Given the description of an element on the screen output the (x, y) to click on. 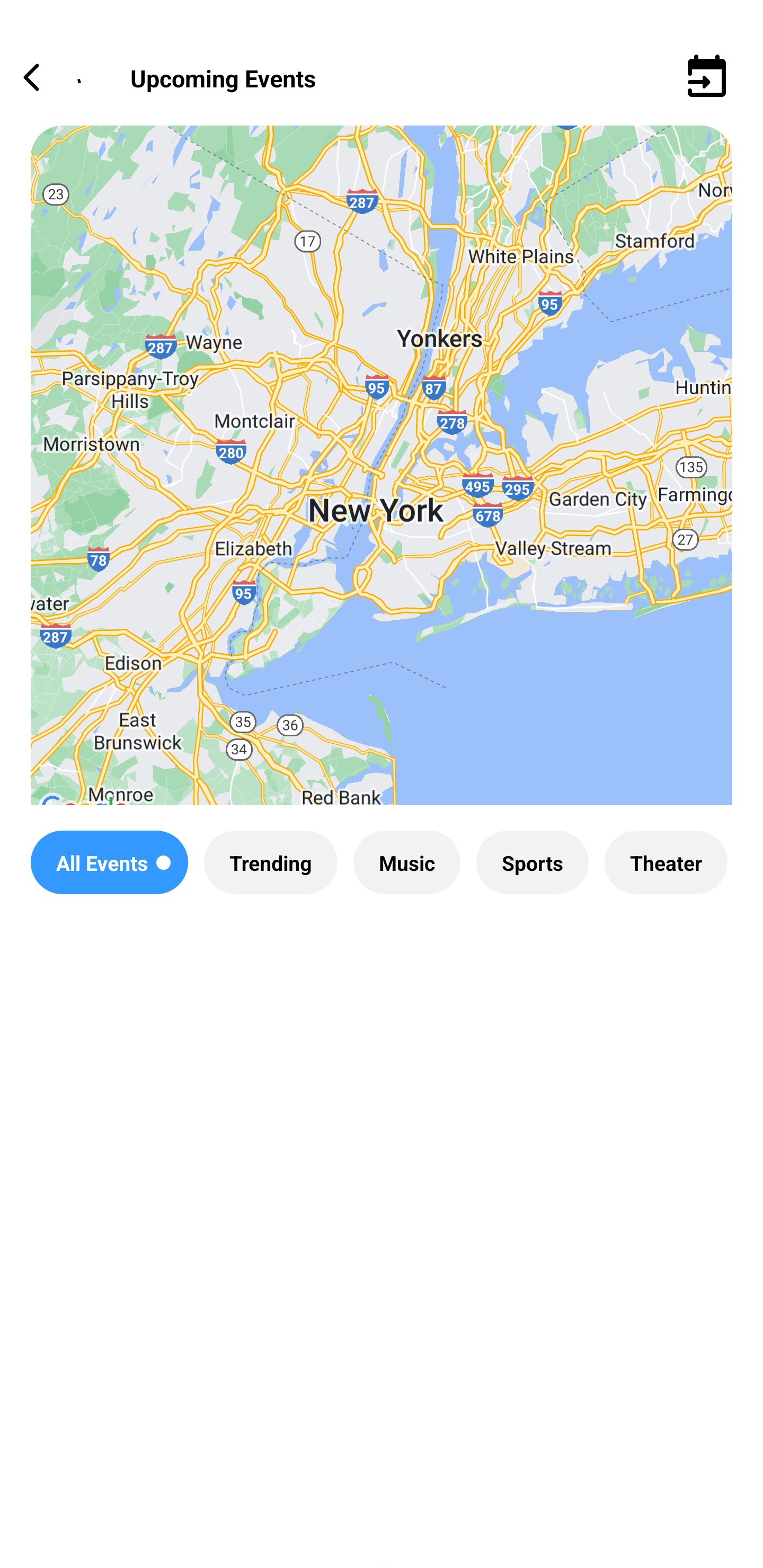
Google Map (381, 480)
All Events (109, 862)
Trending (270, 862)
Music (406, 862)
Sports (532, 862)
Theater (665, 862)
